Given the description of an element on the screen output the (x, y) to click on. 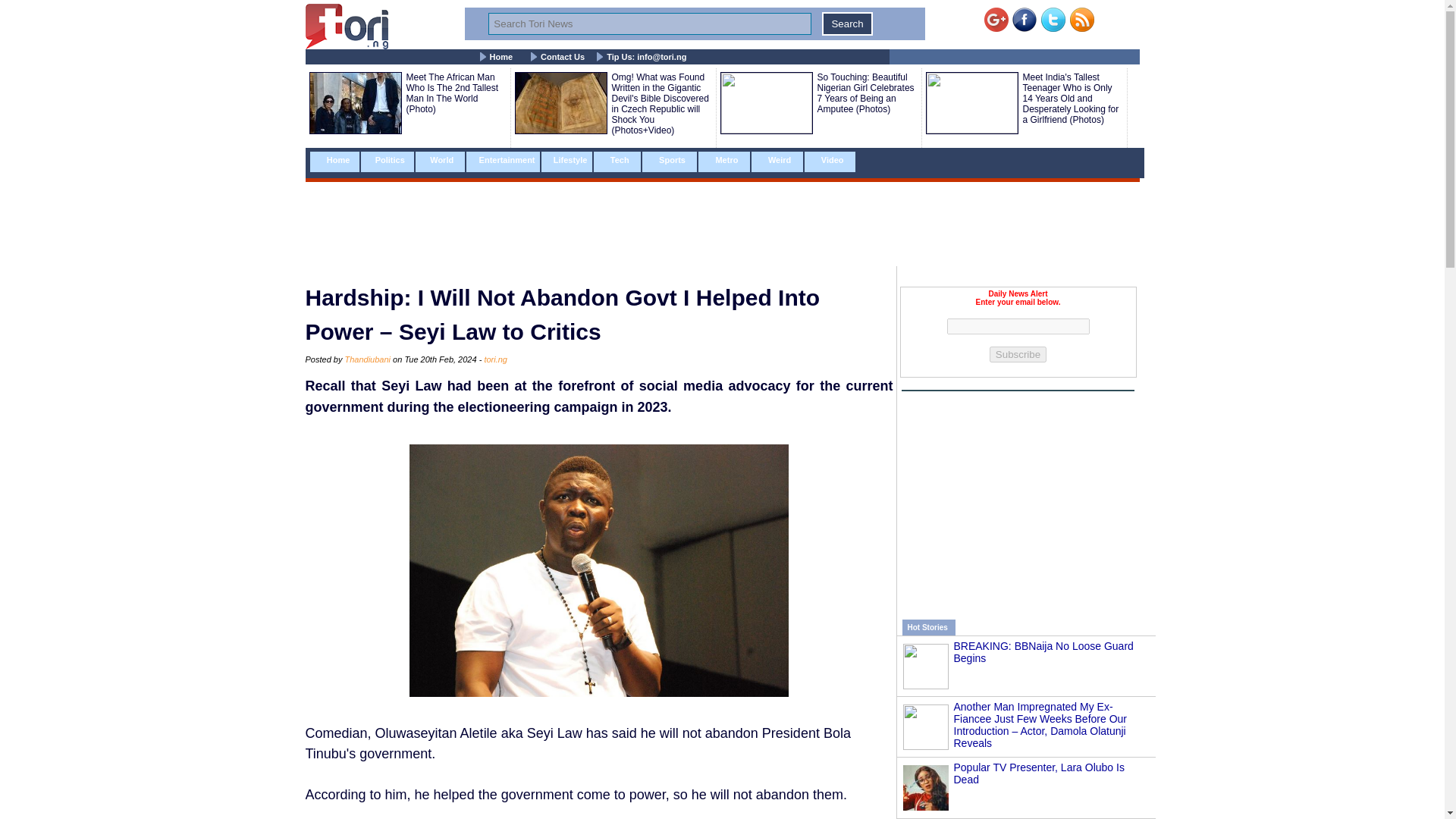
Popular TV Presenter, Lara Olubo Is Dead (1038, 773)
   Politics     (387, 161)
    Weird      (777, 161)
  Lifestyle   (566, 161)
Home (501, 56)
    Metro      (723, 161)
Subscribe (1018, 354)
  Entertainment   (501, 161)
Click To Search (847, 24)
    Video      (830, 161)
    Home     (333, 161)
Search Tori News (648, 24)
    Tech      (617, 161)
   World      (439, 161)
    Sports      (669, 161)
